Given the description of an element on the screen output the (x, y) to click on. 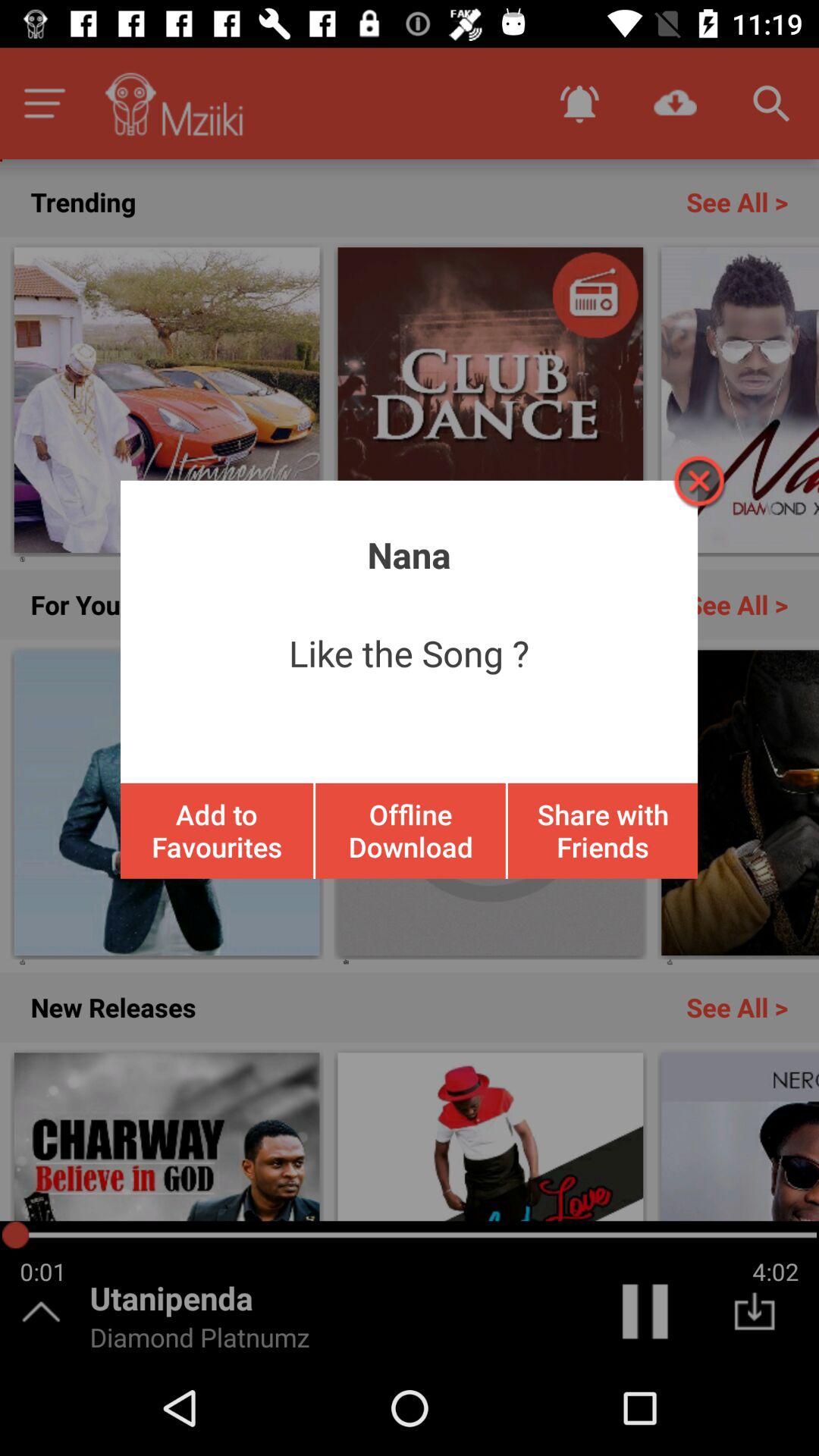
select the app to the right of the nana app (698, 480)
